Given the description of an element on the screen output the (x, y) to click on. 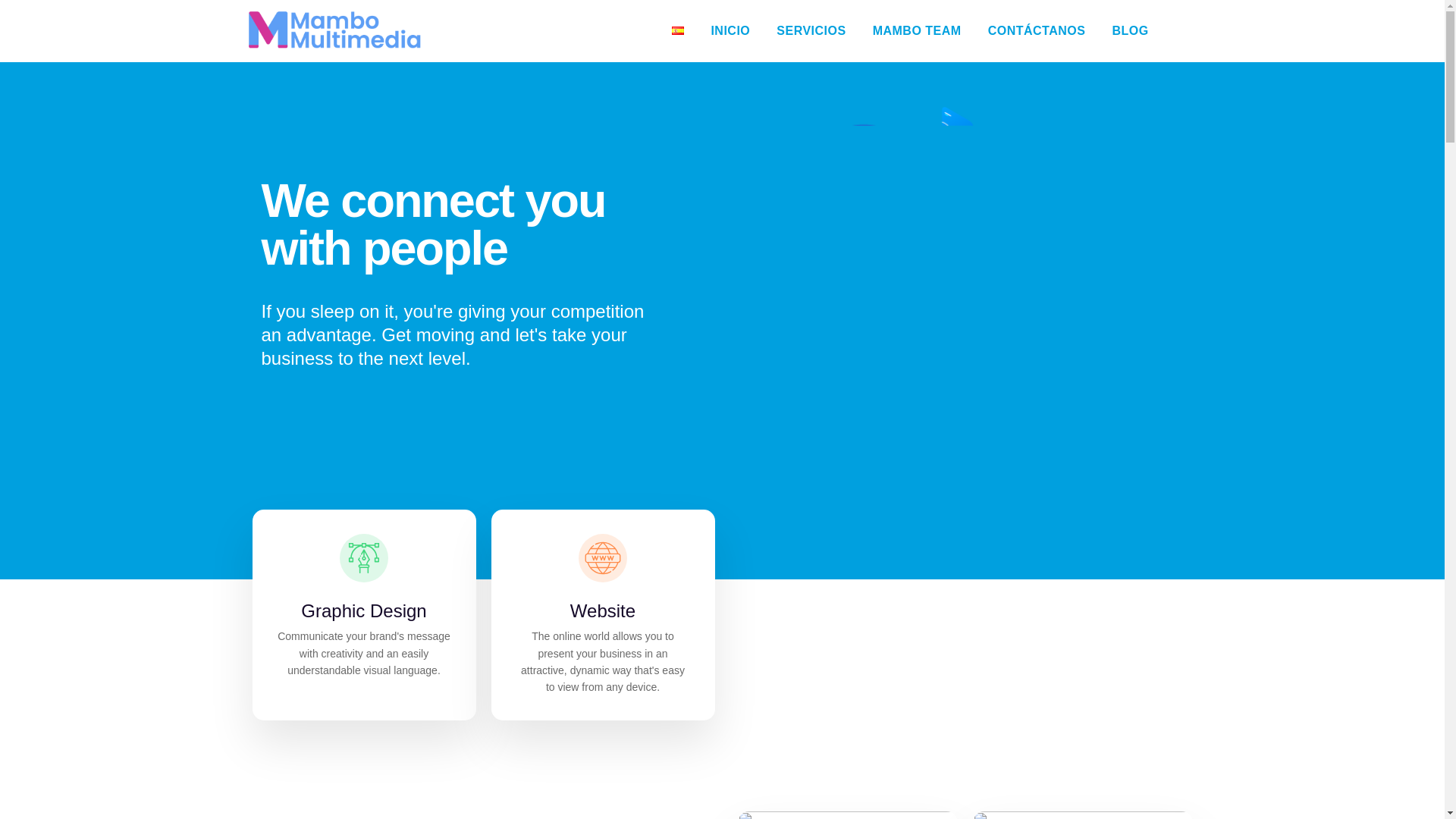
BLOG (1130, 30)
MAMBO TEAM (916, 30)
SERVICIOS (810, 30)
INICIO (729, 30)
